Given the description of an element on the screen output the (x, y) to click on. 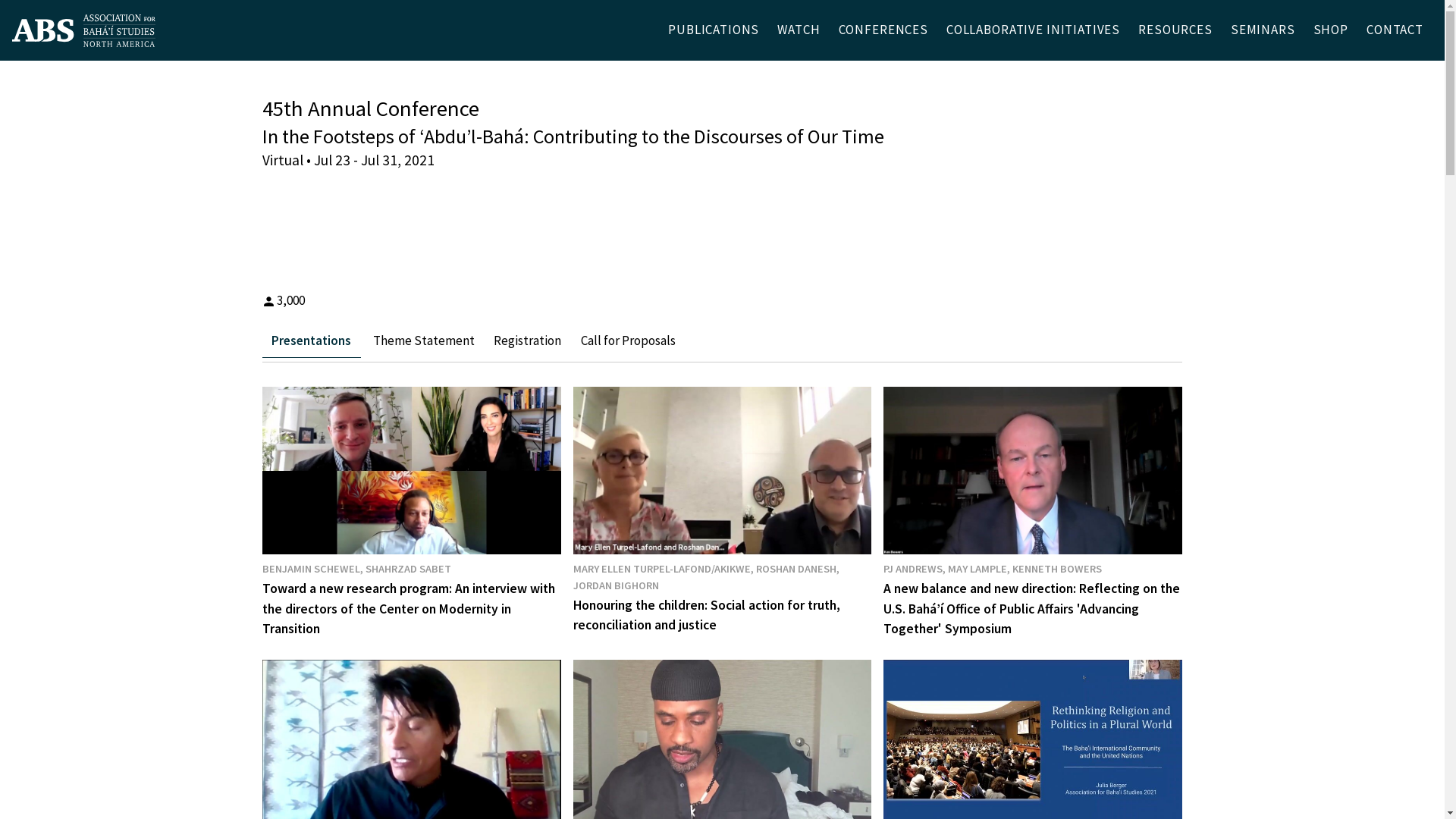
COLLABORATIVE INITIATIVES Element type: text (1033, 30)
PUBLICATIONS Element type: text (713, 30)
RESOURCES Element type: text (1175, 30)
SEMINARS Element type: text (1262, 30)
SHOP Element type: text (1330, 30)
CONFERENCES Element type: text (883, 30)
CONTACT Element type: text (1394, 30)
WATCH Element type: text (798, 30)
